Given the description of an element on the screen output the (x, y) to click on. 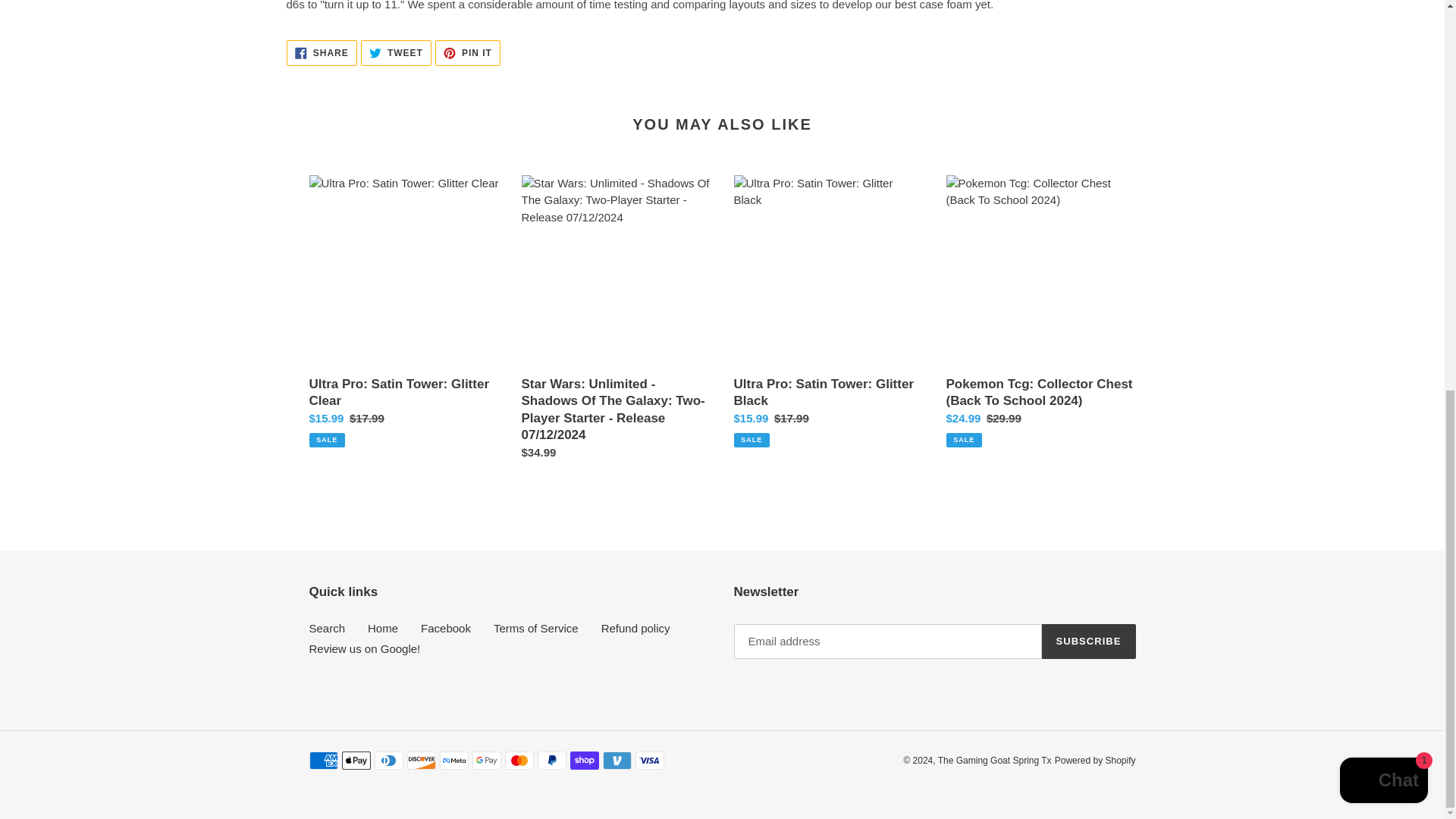
American Express (322, 760)
Discover (420, 760)
Apple Pay (321, 53)
Meta Pay (354, 760)
Diners Club (453, 760)
Mastercard (388, 760)
Shop Pay (519, 760)
Shopify online store chat (584, 760)
Venmo (395, 53)
Google Pay (467, 53)
PayPal (1383, 36)
Search (616, 760)
